Given the description of an element on the screen output the (x, y) to click on. 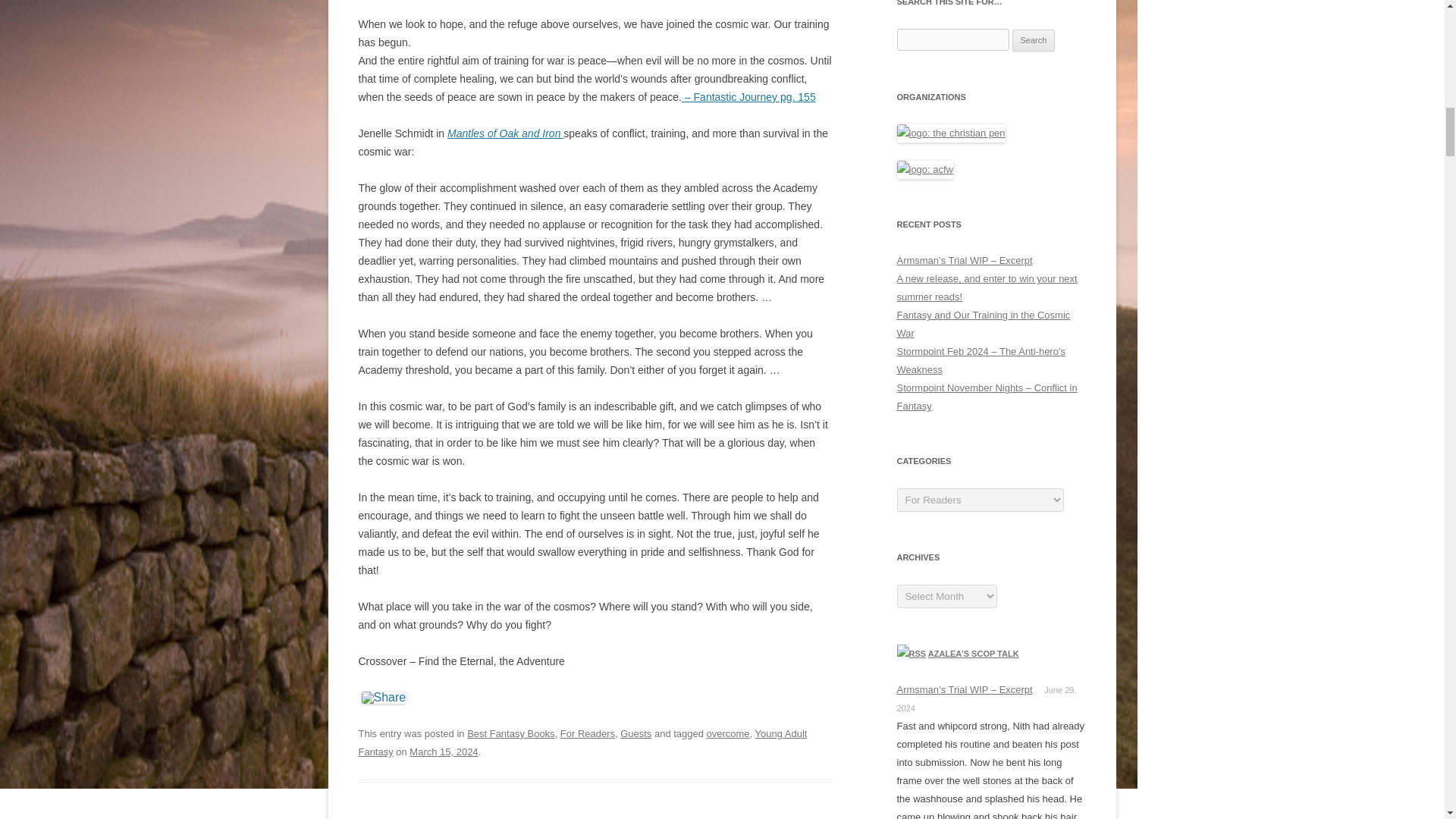
1:27 am (443, 751)
Search (1033, 40)
Mantles of Oak and Iron (504, 133)
